Given the description of an element on the screen output the (x, y) to click on. 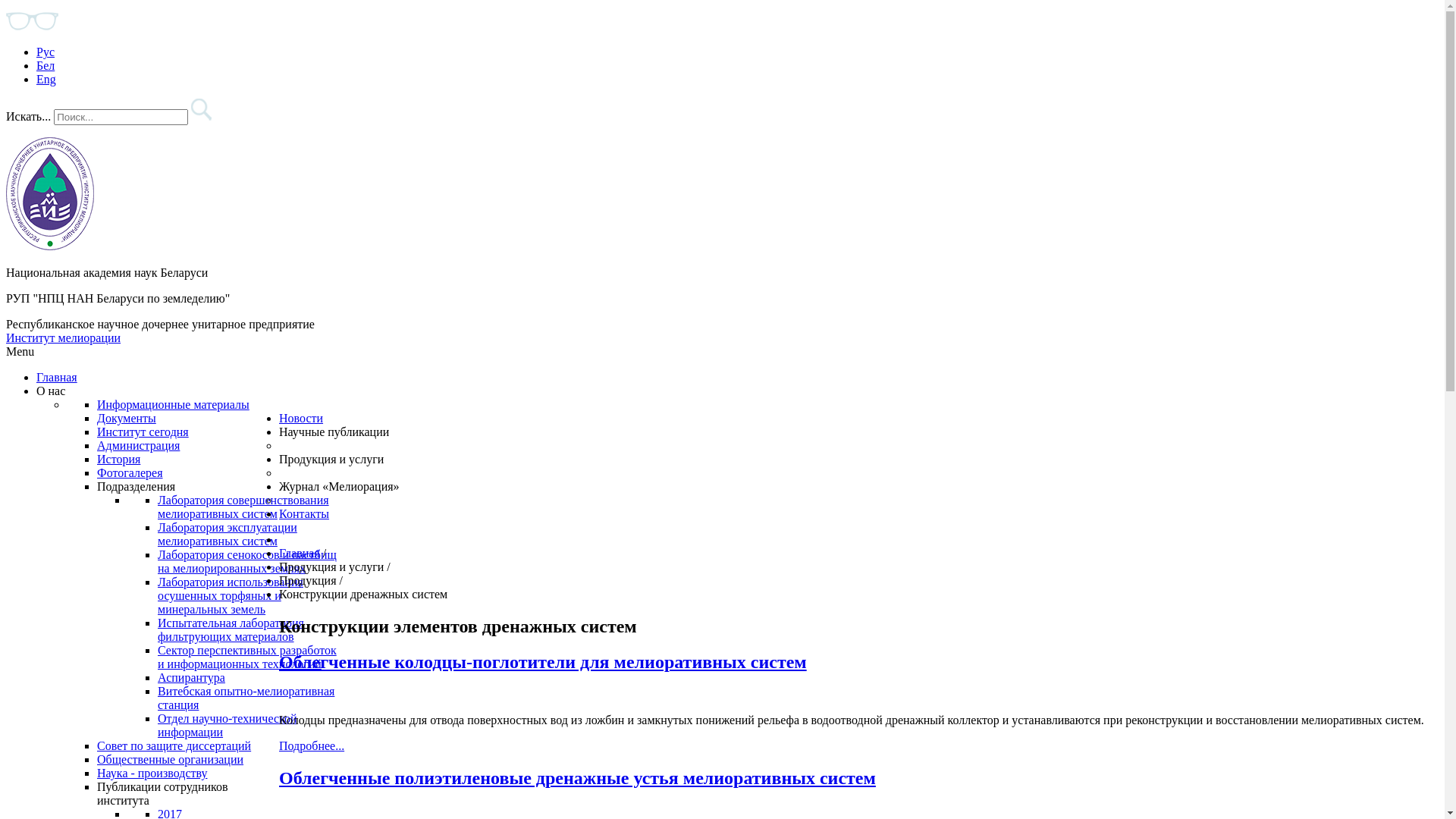
Eng Element type: text (46, 78)
Menu Element type: text (20, 351)
